Given the description of an element on the screen output the (x, y) to click on. 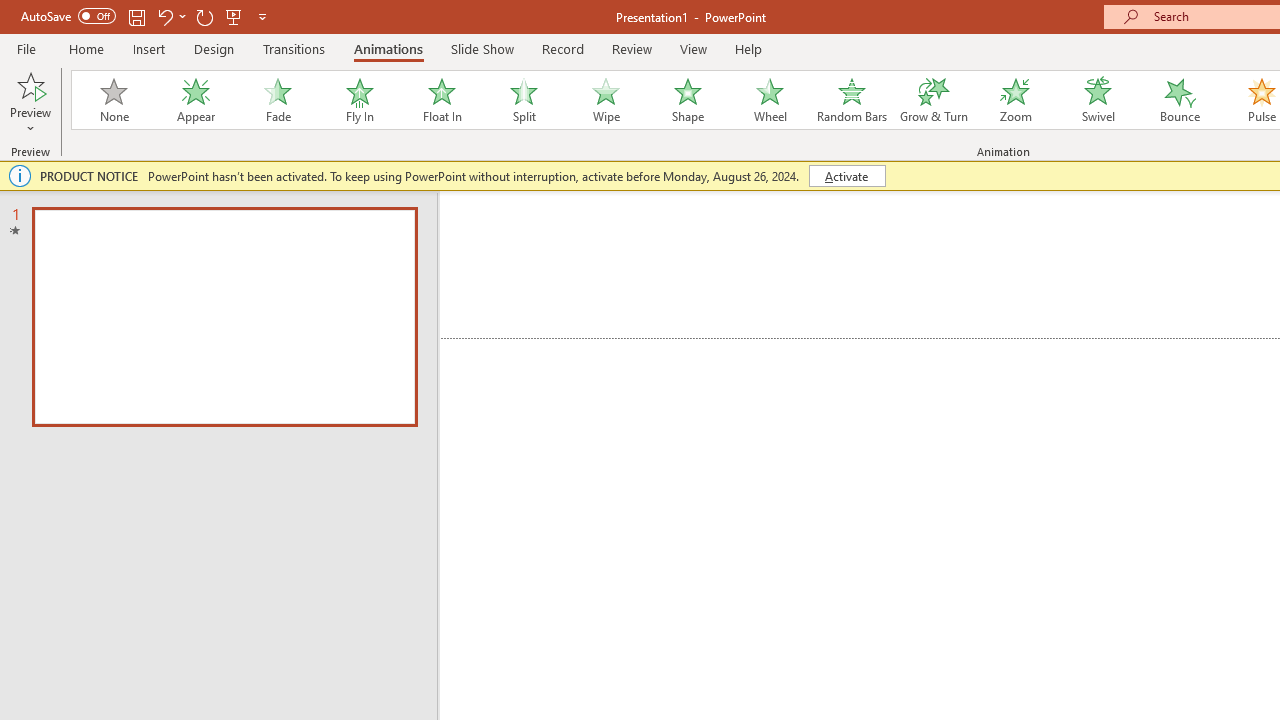
Wipe (605, 100)
Split (523, 100)
Shape (687, 100)
Bounce (1180, 100)
Grow & Turn (934, 100)
Float In (441, 100)
Activate (846, 175)
